Given the description of an element on the screen output the (x, y) to click on. 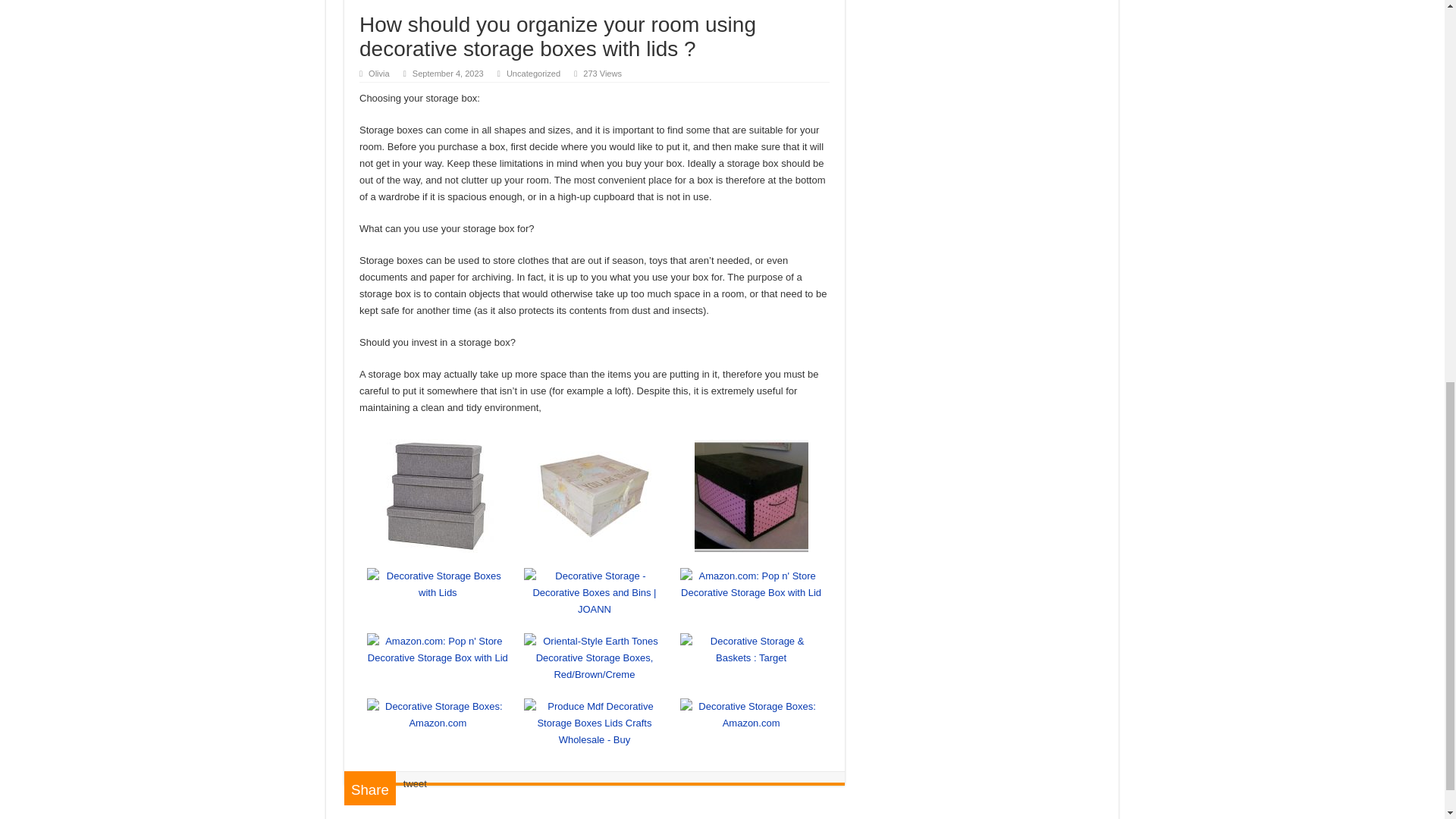
Olivia (379, 72)
Uncategorized (533, 72)
tweet (414, 783)
